Given the description of an element on the screen output the (x, y) to click on. 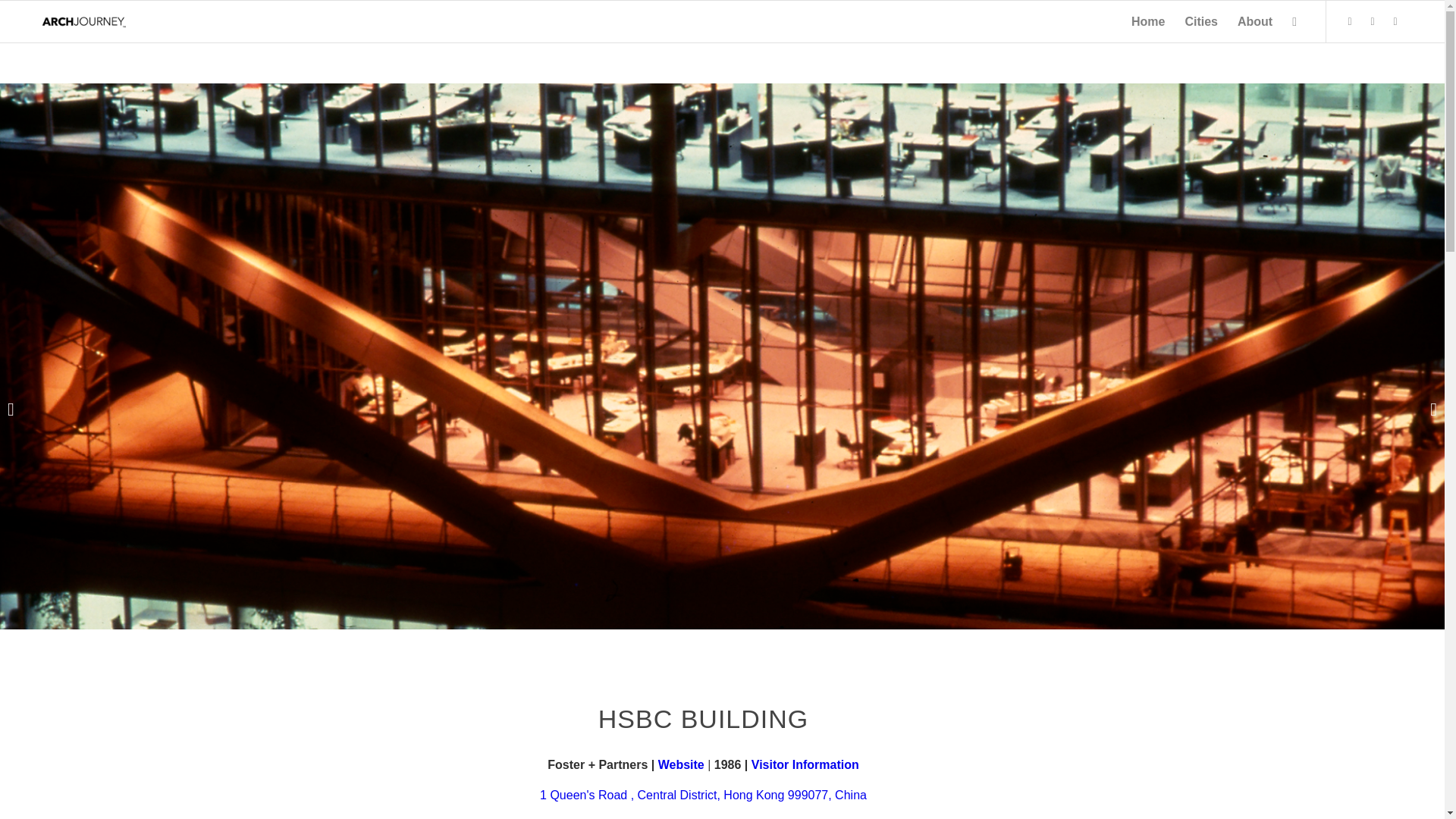
Pinterest (1372, 20)
Visitor Information (805, 764)
1 Queen's Road , Central District, Hong Kong 999077, China (703, 794)
About (1254, 21)
Instagram (1349, 20)
Cities (1200, 21)
Facebook (1395, 20)
Home (1147, 21)
Website (681, 764)
